Given the description of an element on the screen output the (x, y) to click on. 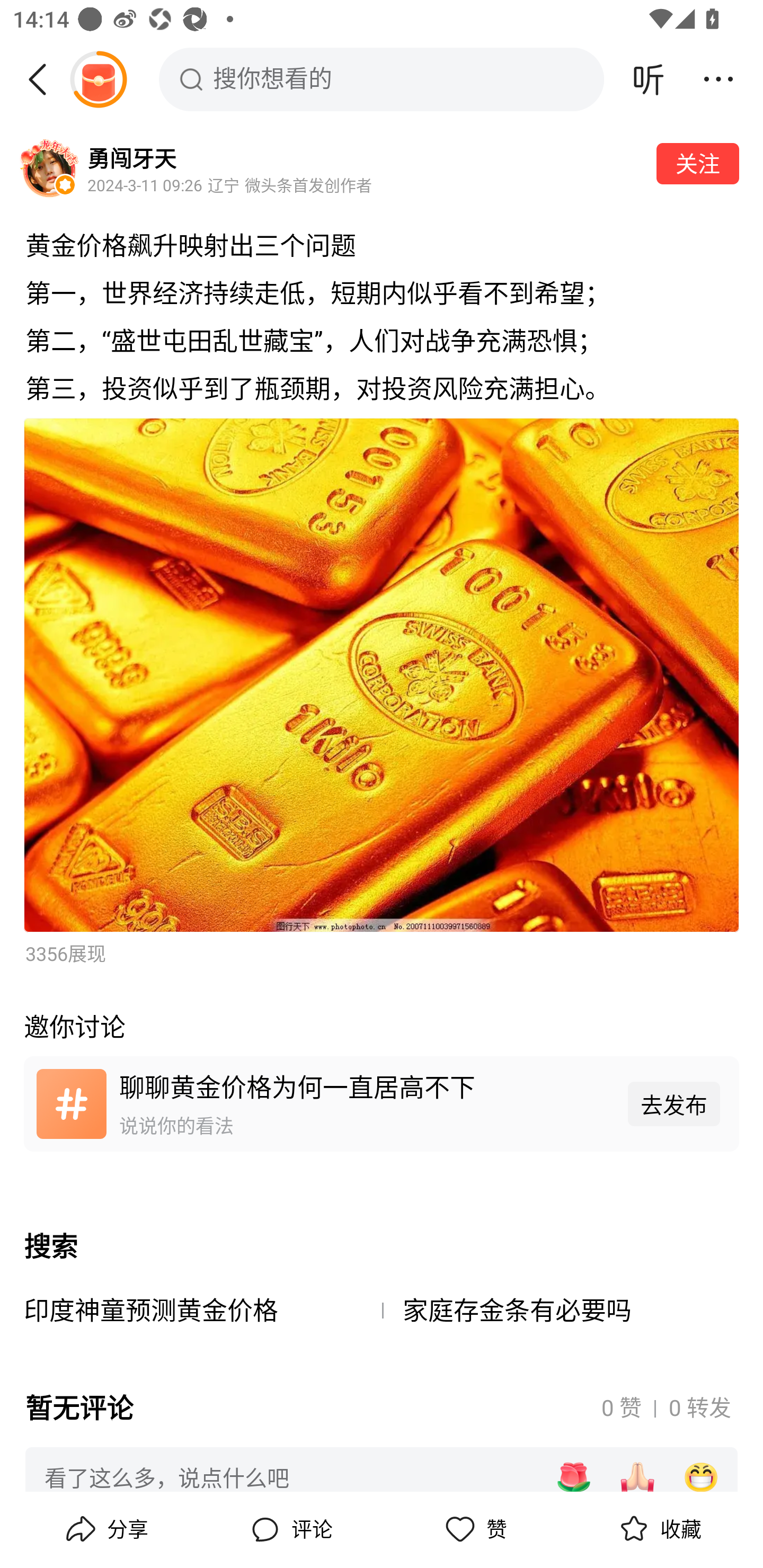
返回 (44, 78)
听头条 (648, 78)
更多操作 (718, 78)
搜你想看的 搜索框，搜你想看的 (381, 79)
阅读赚金币 (98, 79)
勇闯牙天 (131, 157)
关注 (697, 163)
勇闯牙天头像 (48, 169)
内容图片 (381, 675)
聊聊黄金价格为何一直居高不下:说说你的看法::按钮 (381, 1103)
印度神童预测黄金价格 (201, 1319)
家庭存金条有必要吗 (560, 1319)
看了这么多，说点什么吧 [玫瑰] [祈祷] [呲牙] (381, 1475)
[玫瑰] (573, 1476)
[祈祷] (636, 1476)
[呲牙] (700, 1476)
分享 (104, 1529)
评论, 评论 (288, 1529)
,收藏 收藏 (658, 1529)
